Given the description of an element on the screen output the (x, y) to click on. 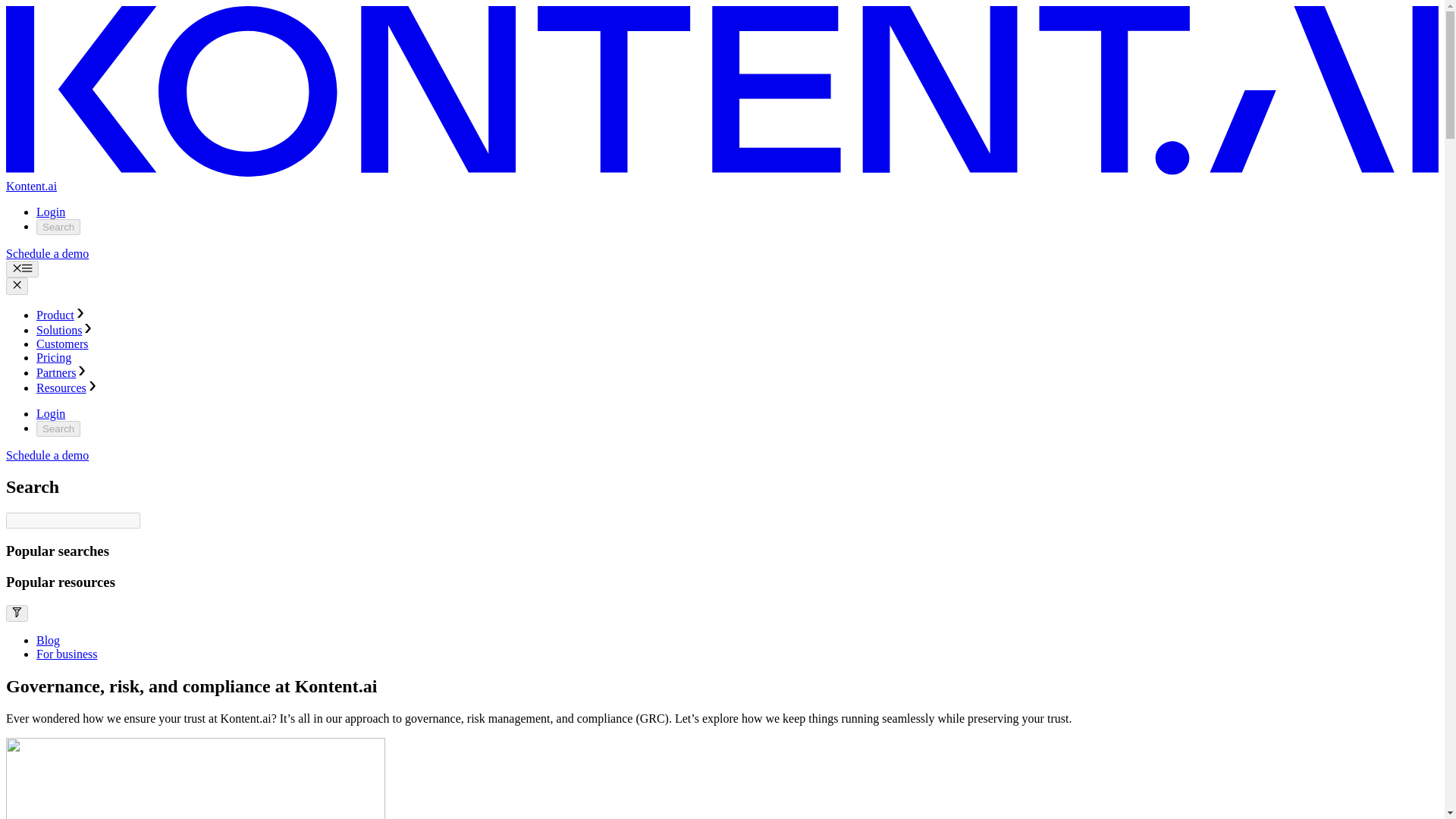
For business (66, 653)
Blog (47, 640)
Pricing (53, 357)
Schedule a demo (46, 454)
Search (58, 227)
Schedule a demo (46, 253)
Resources (67, 387)
Partners (61, 372)
Search (58, 428)
Solutions (65, 329)
Customers (61, 343)
Login (50, 413)
Product (60, 314)
Login (50, 211)
